Given the description of an element on the screen output the (x, y) to click on. 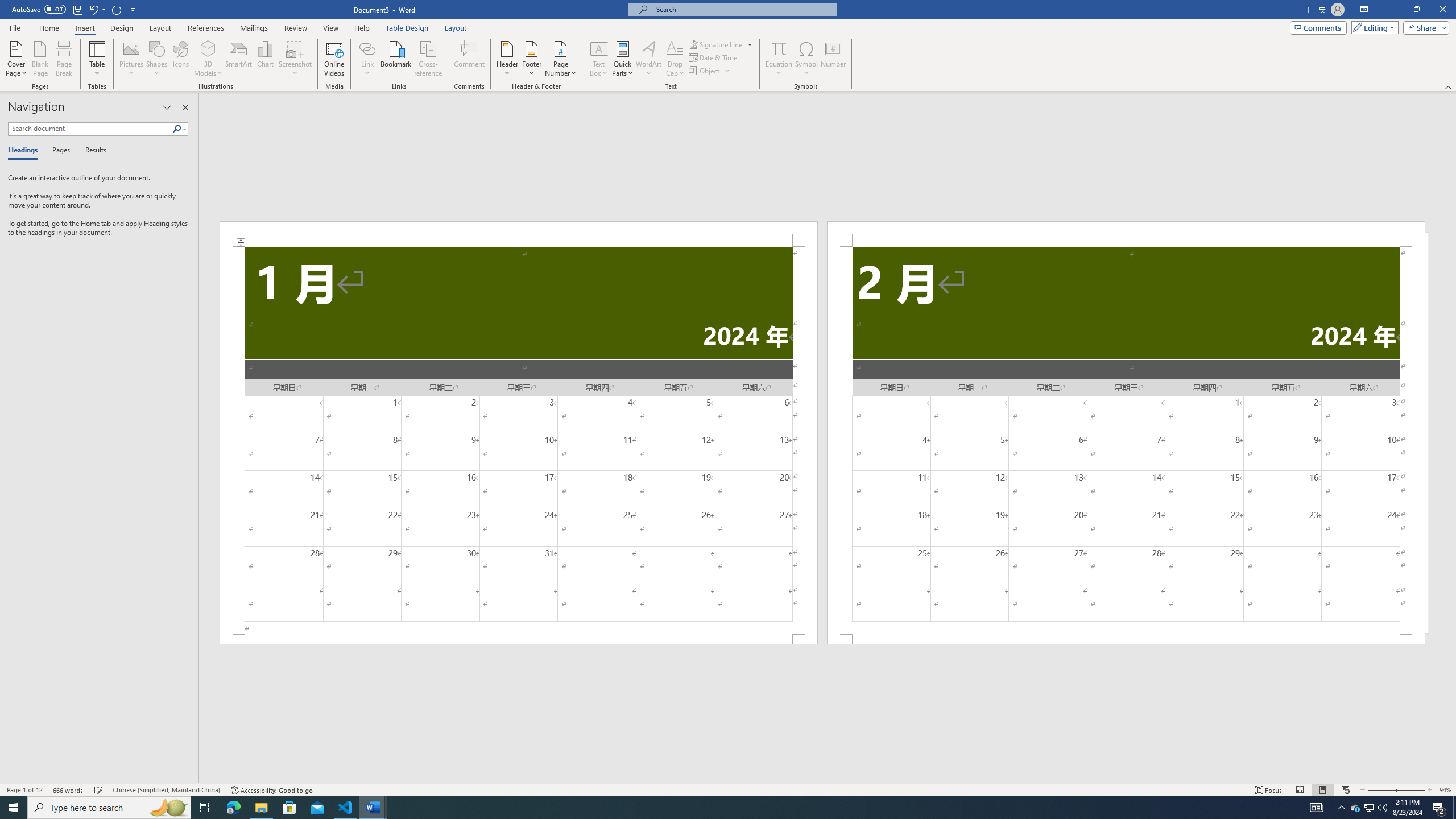
Header -Section 2- (1126, 233)
Microsoft search (742, 9)
Language Chinese (Simplified, Mainland China) (165, 790)
Page 2 content (1126, 439)
Results (91, 150)
Bookmark... (396, 58)
Cross-reference... (428, 58)
Search document (89, 128)
Icons (180, 58)
Object... (709, 69)
Signature Line (716, 44)
Blank Page (40, 58)
